Given the description of an element on the screen output the (x, y) to click on. 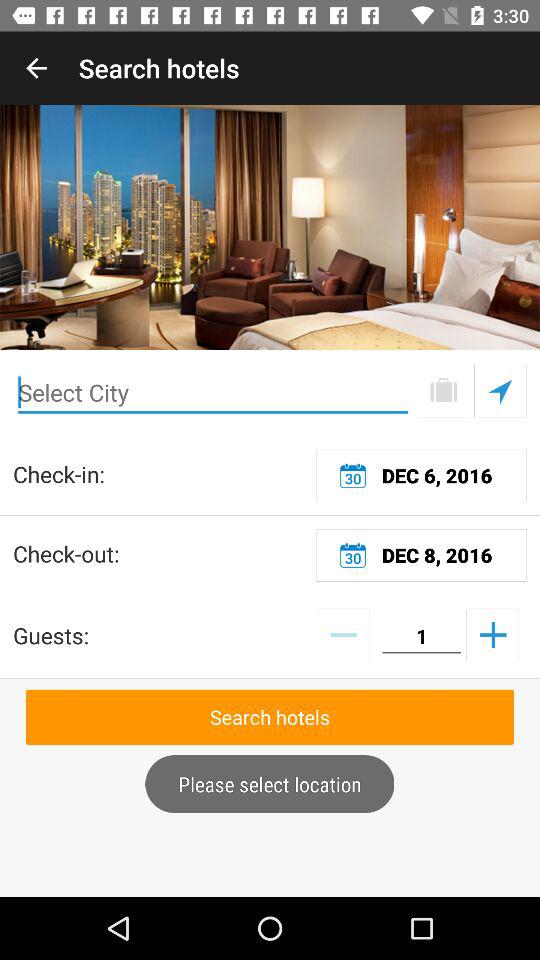
enter city (213, 392)
